Given the description of an element on the screen output the (x, y) to click on. 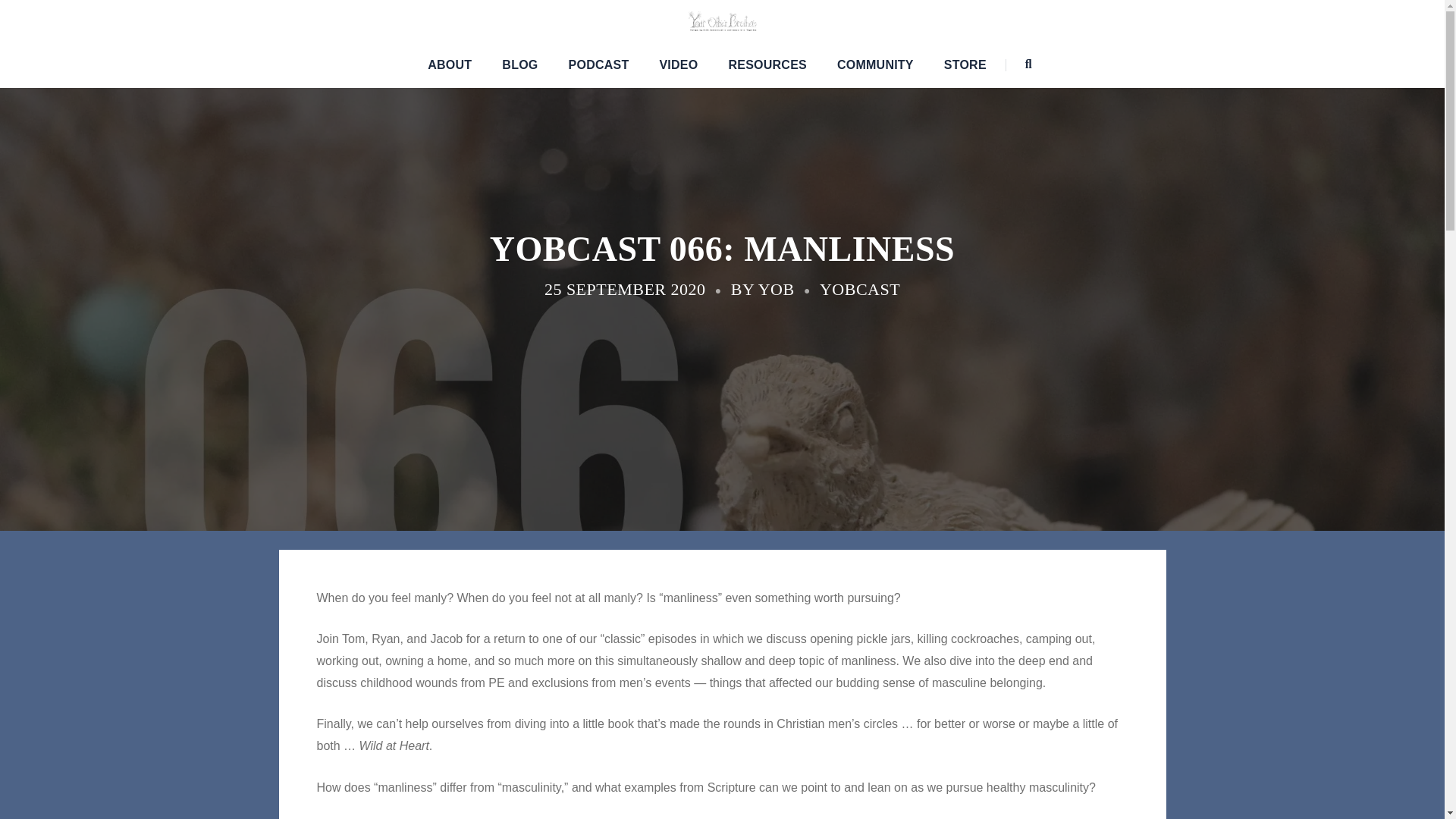
RESOURCES (767, 64)
ABOUT (449, 64)
PODCAST (598, 64)
COMMUNITY (875, 64)
STORE (965, 64)
YOB (776, 289)
Your Other Brothers (722, 20)
YOBCAST (859, 289)
